Given the description of an element on the screen output the (x, y) to click on. 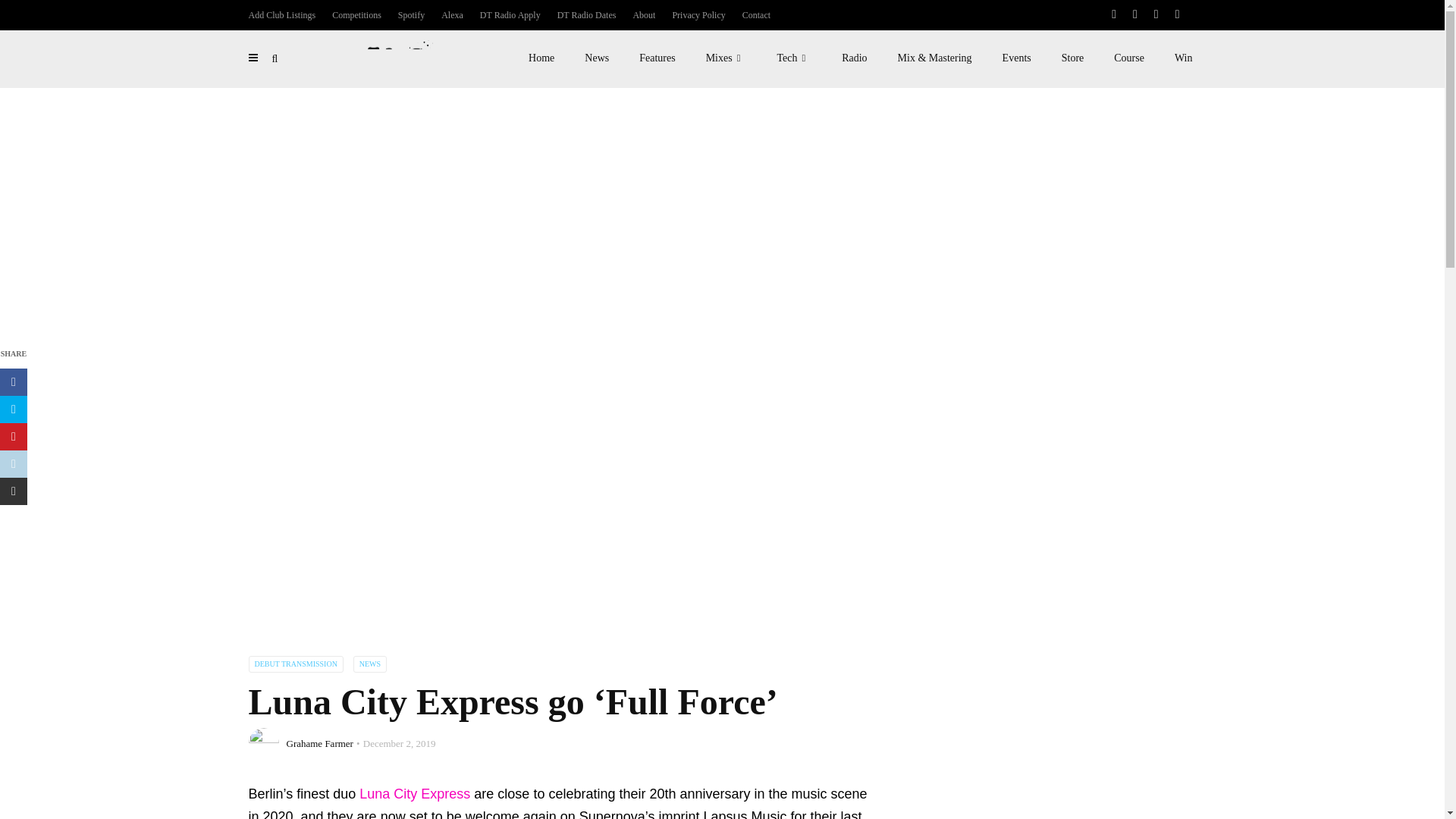
Win (1183, 57)
Events (1016, 57)
Tech (794, 57)
Store (1072, 57)
Course (1128, 57)
Mixes (725, 57)
Home (541, 57)
Features (657, 57)
News (596, 57)
Radio (854, 57)
